Given the description of an element on the screen output the (x, y) to click on. 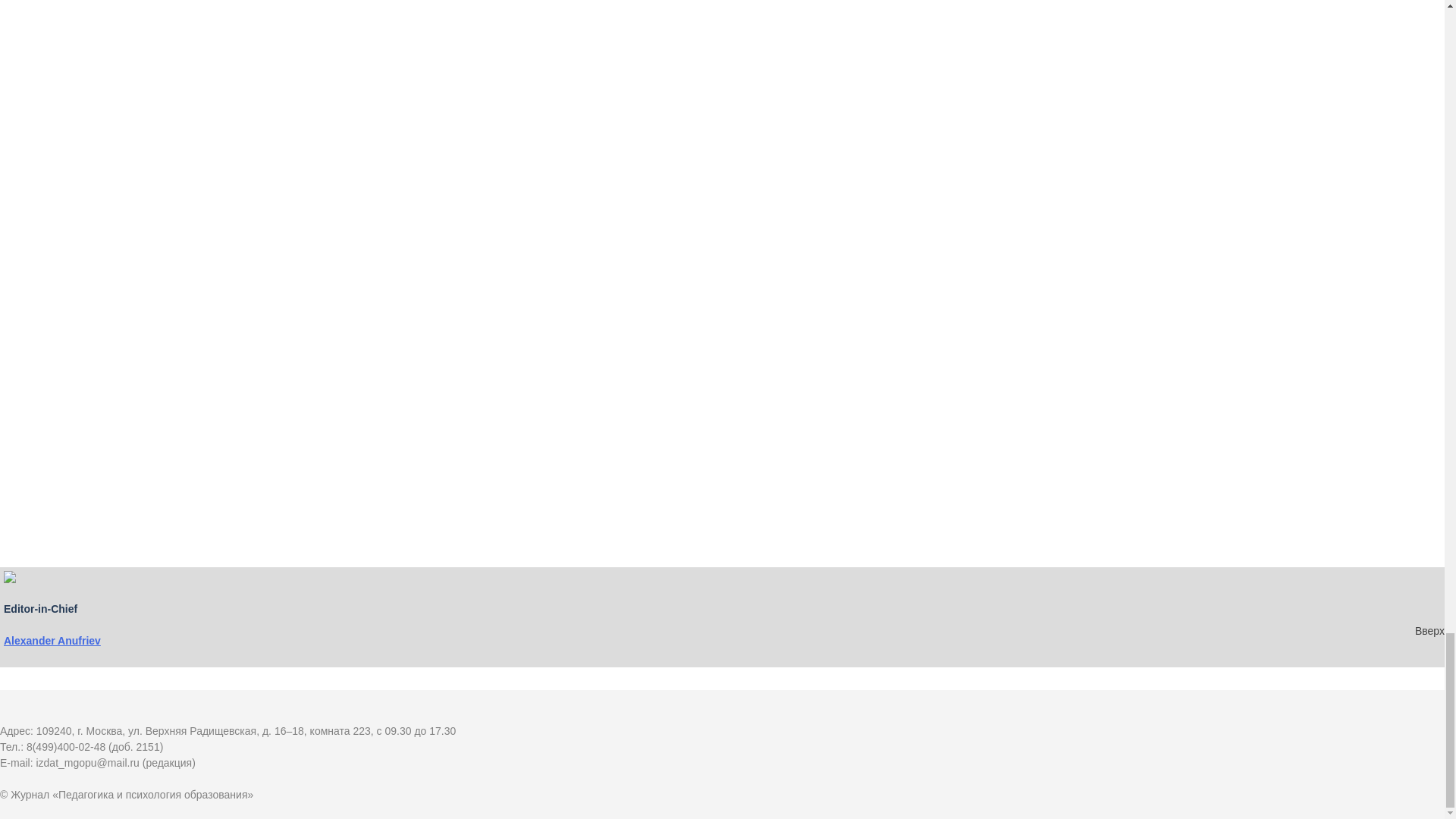
Alexander Anufriev (52, 640)
